Given the description of an element on the screen output the (x, y) to click on. 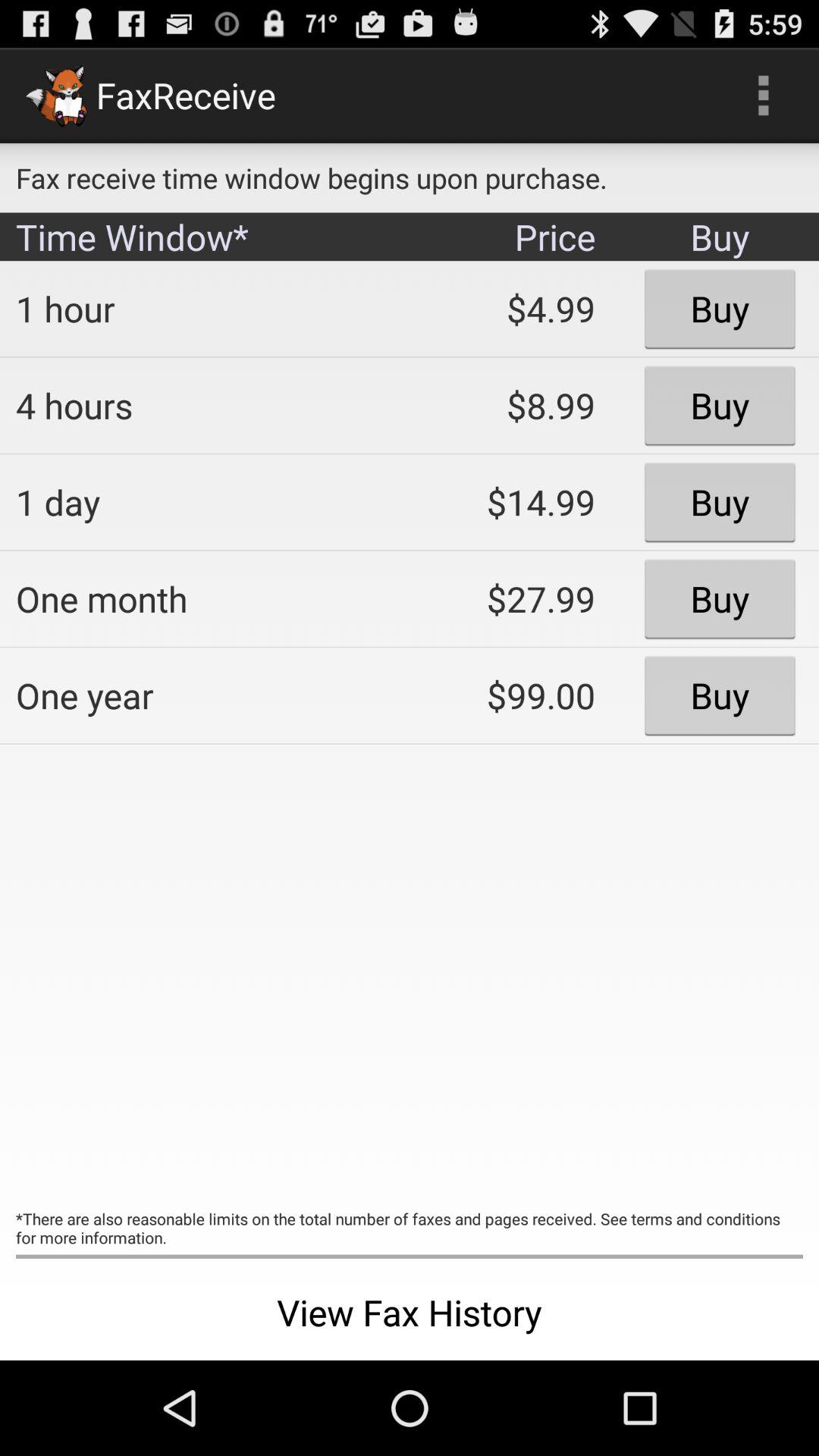
click icon below 1 hour (201, 405)
